Given the description of an element on the screen output the (x, y) to click on. 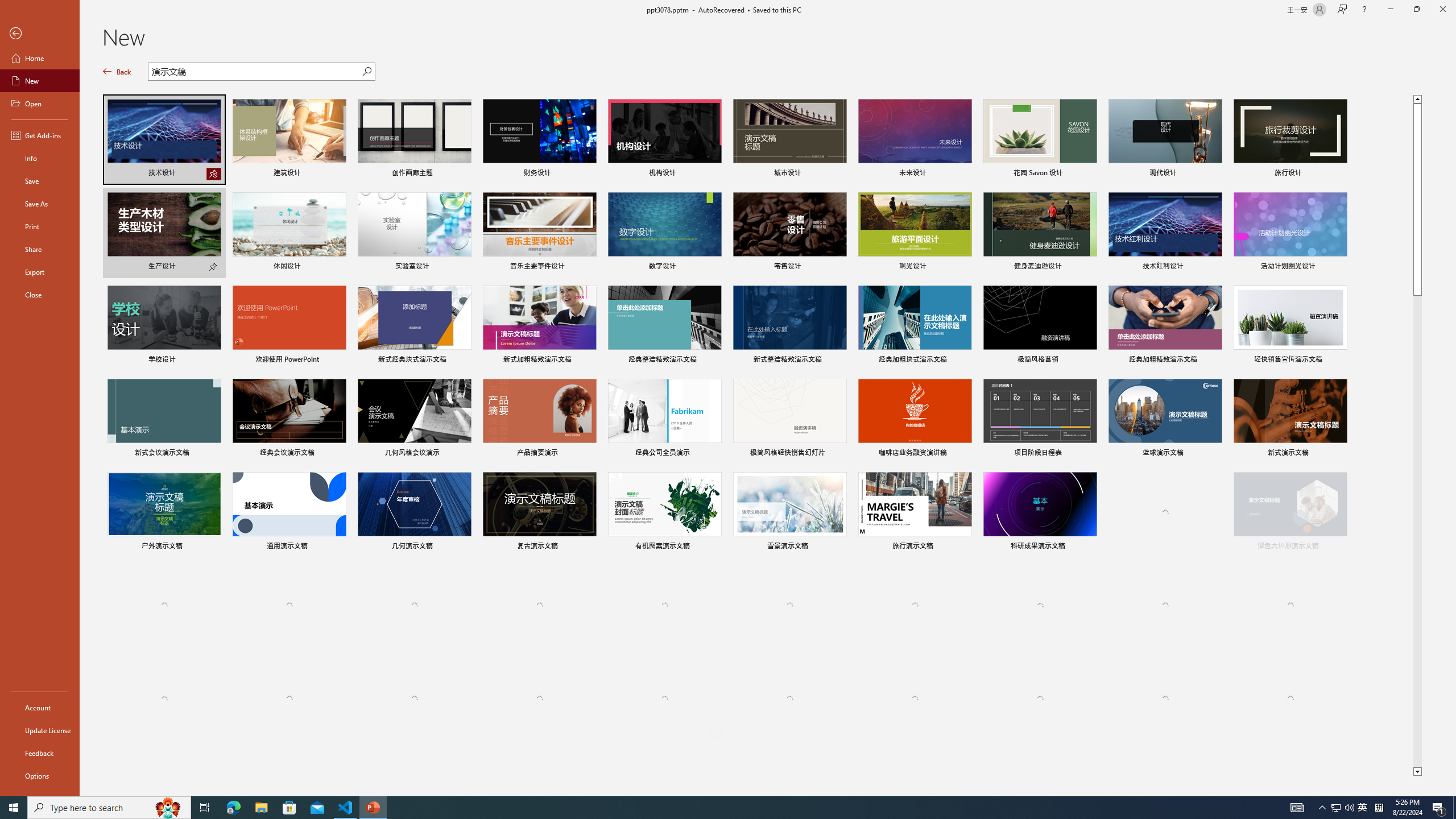
Search for online templates and themes (254, 73)
Get Add-ins (40, 134)
